Given the description of an element on the screen output the (x, y) to click on. 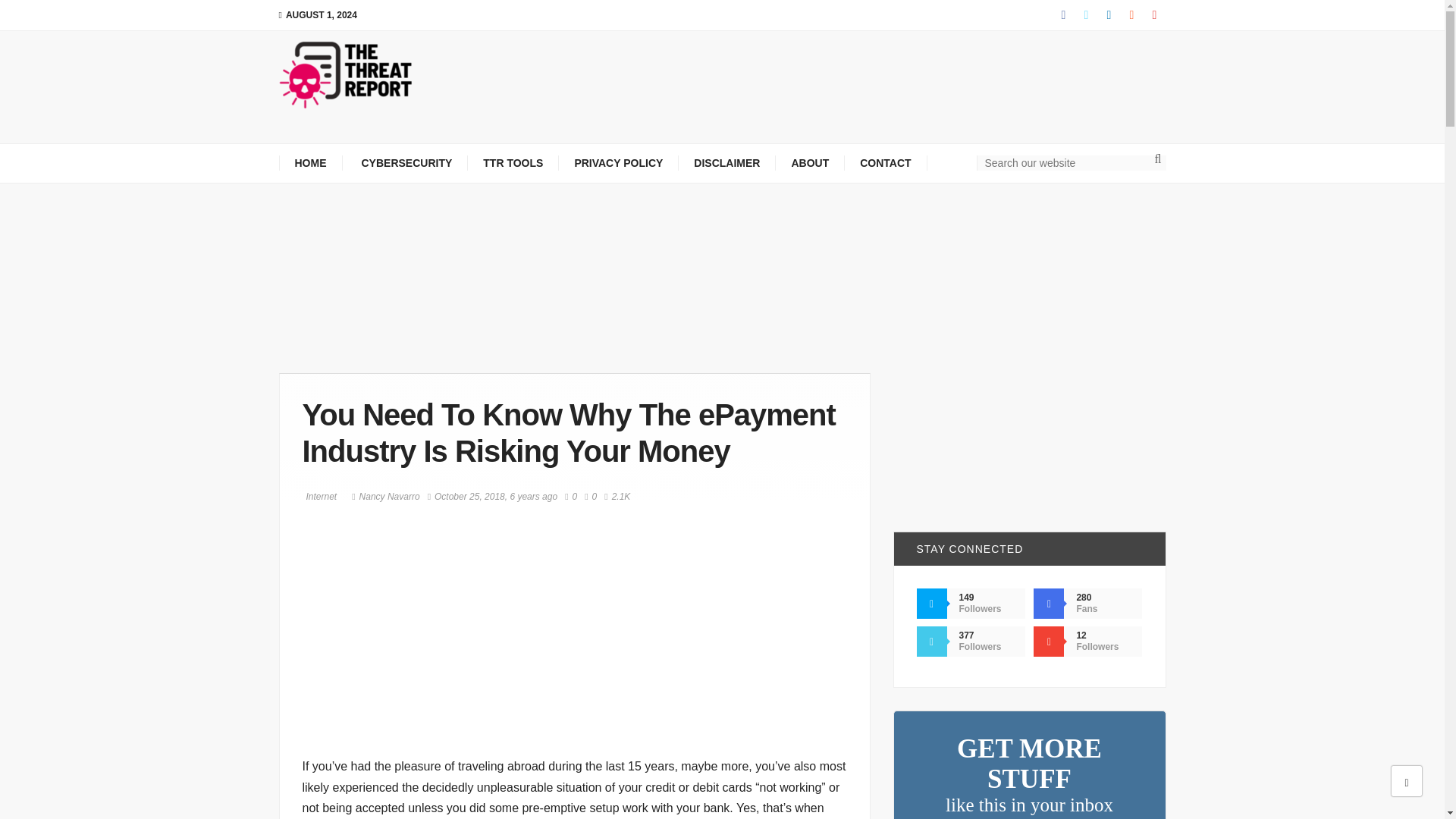
0 (570, 496)
PRIVACY POLICY (618, 162)
HOME (310, 162)
TTR TOOLS (513, 162)
Advertisement (814, 97)
CYBERSECURITY (405, 162)
Internet (318, 496)
Nancy Navarro (385, 496)
CONTACT (885, 162)
DISCLAIMER (727, 162)
ABOUT (810, 162)
like (590, 496)
The Threat Report (346, 73)
